Given the description of an element on the screen output the (x, y) to click on. 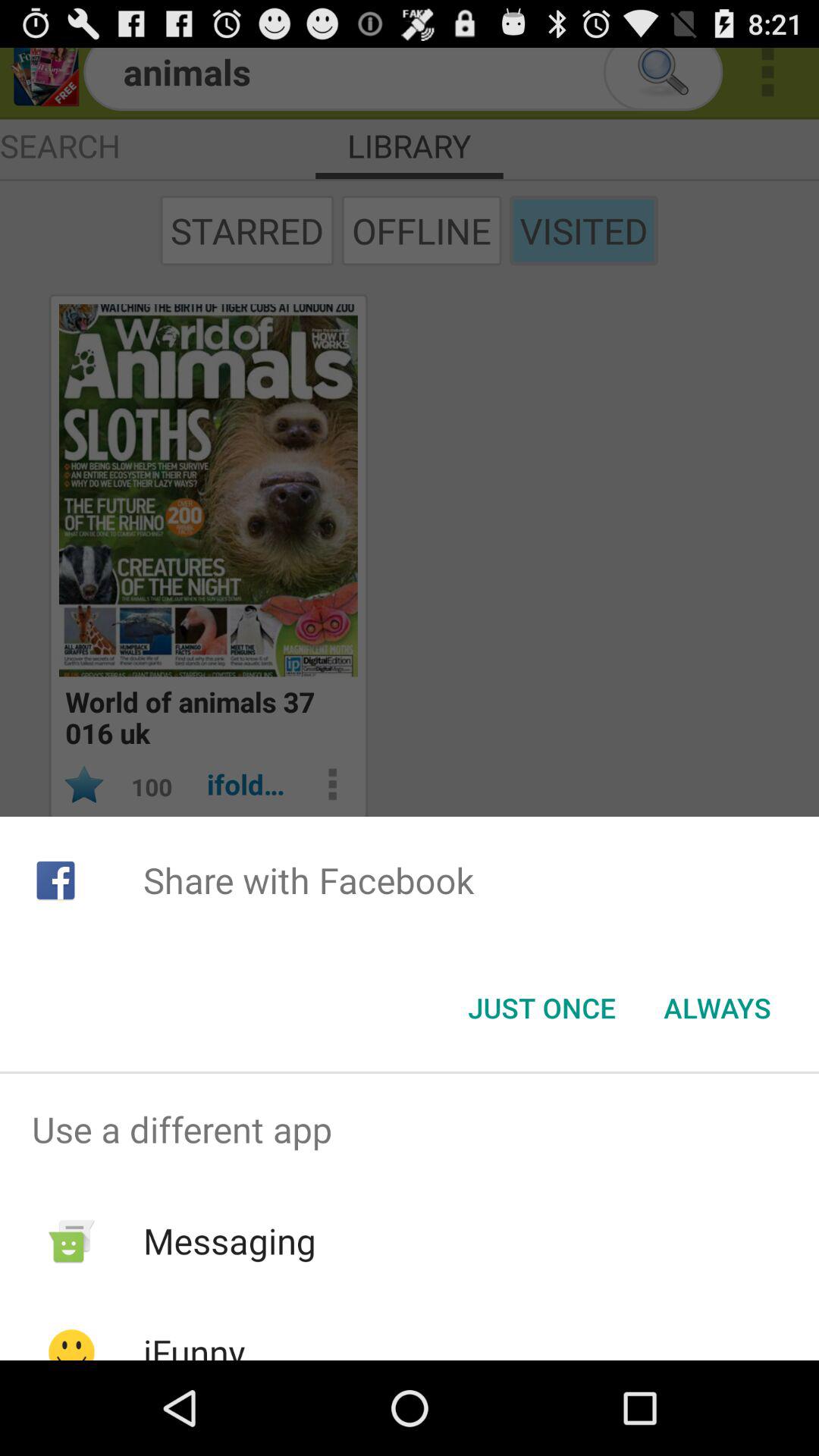
turn on item next to the just once button (717, 1007)
